Given the description of an element on the screen output the (x, y) to click on. 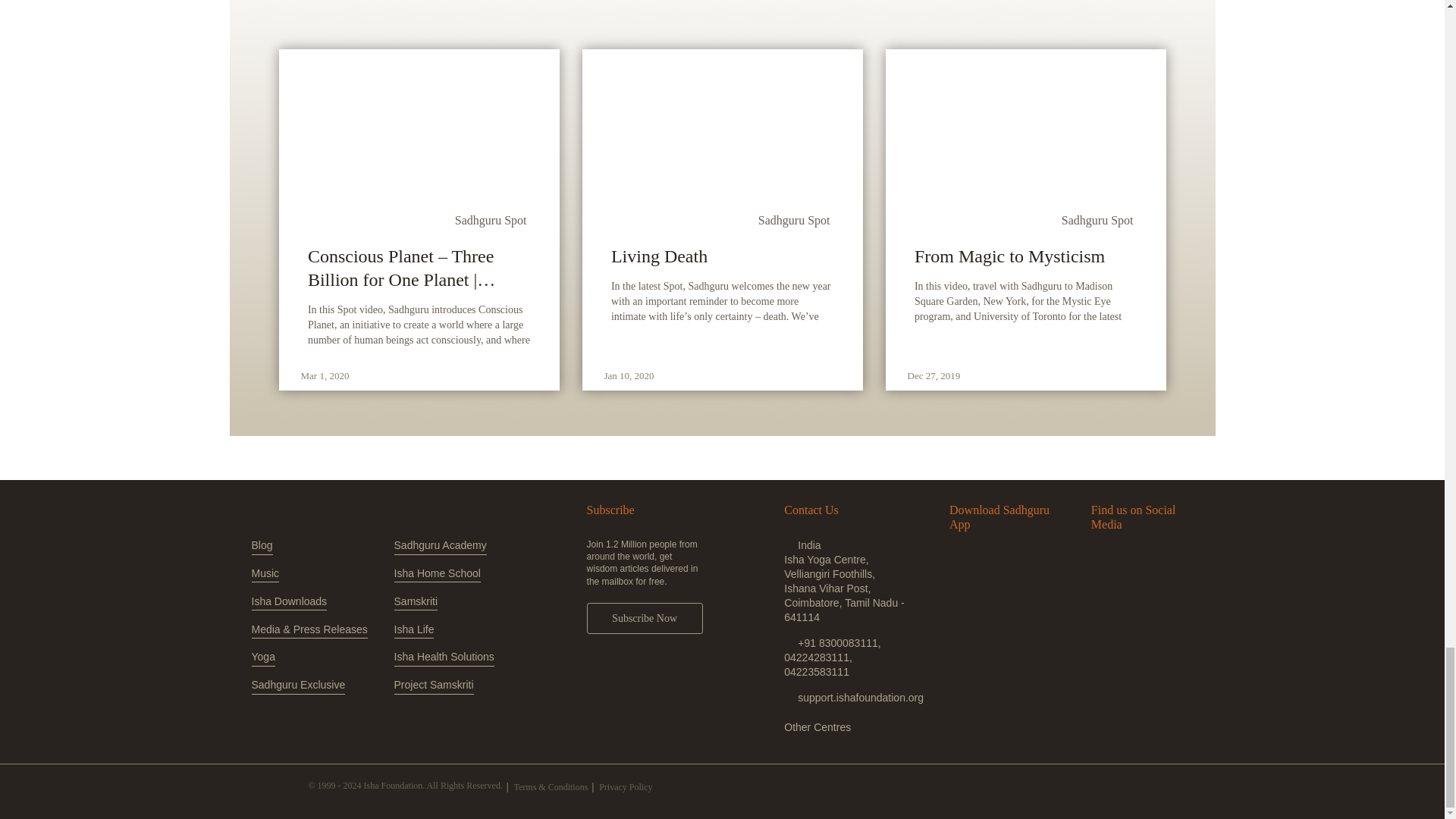
Living Death (721, 256)
From Magic to Mysticism (1025, 256)
